Given the description of an element on the screen output the (x, y) to click on. 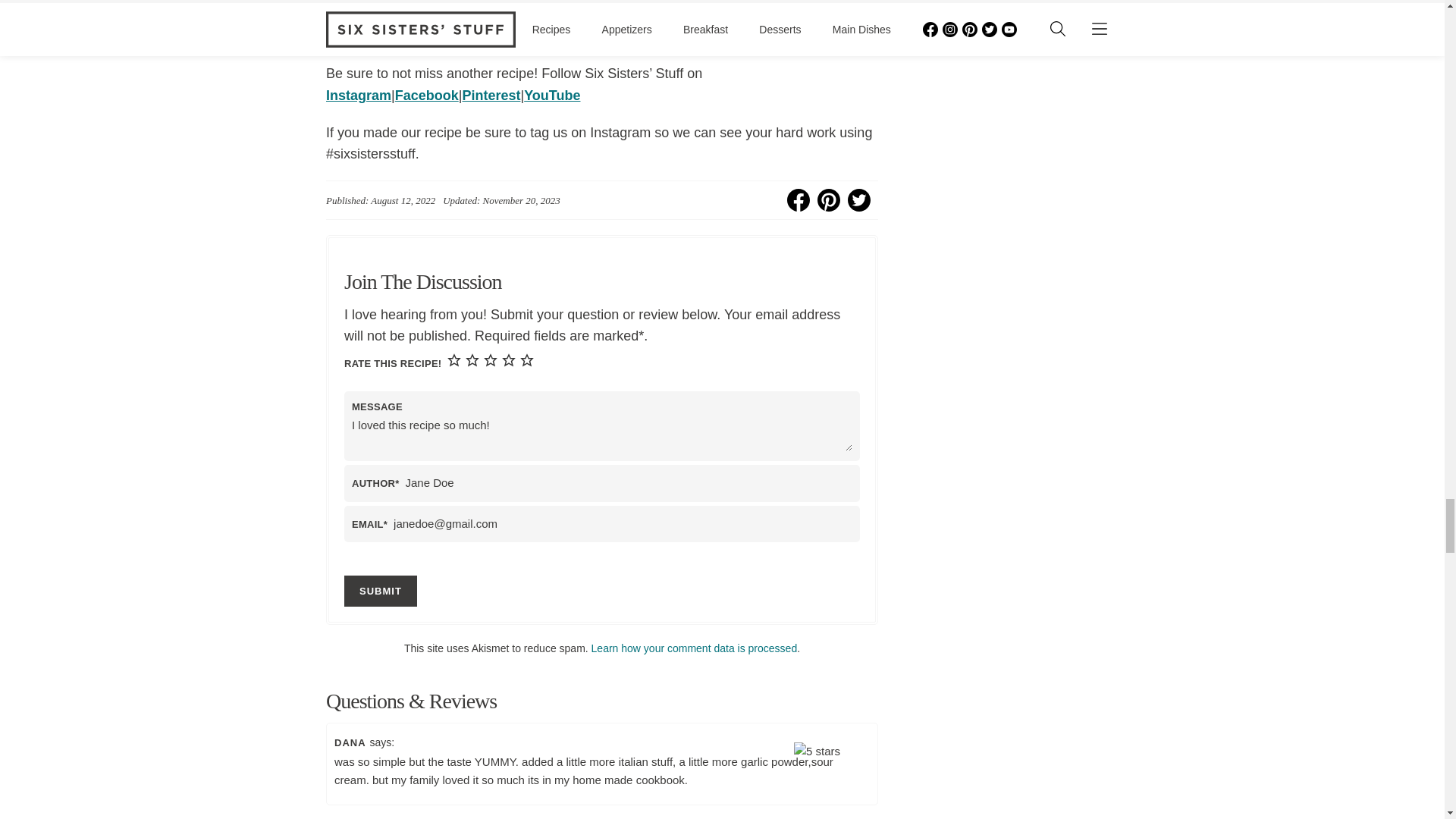
Submit (379, 590)
